Given the description of an element on the screen output the (x, y) to click on. 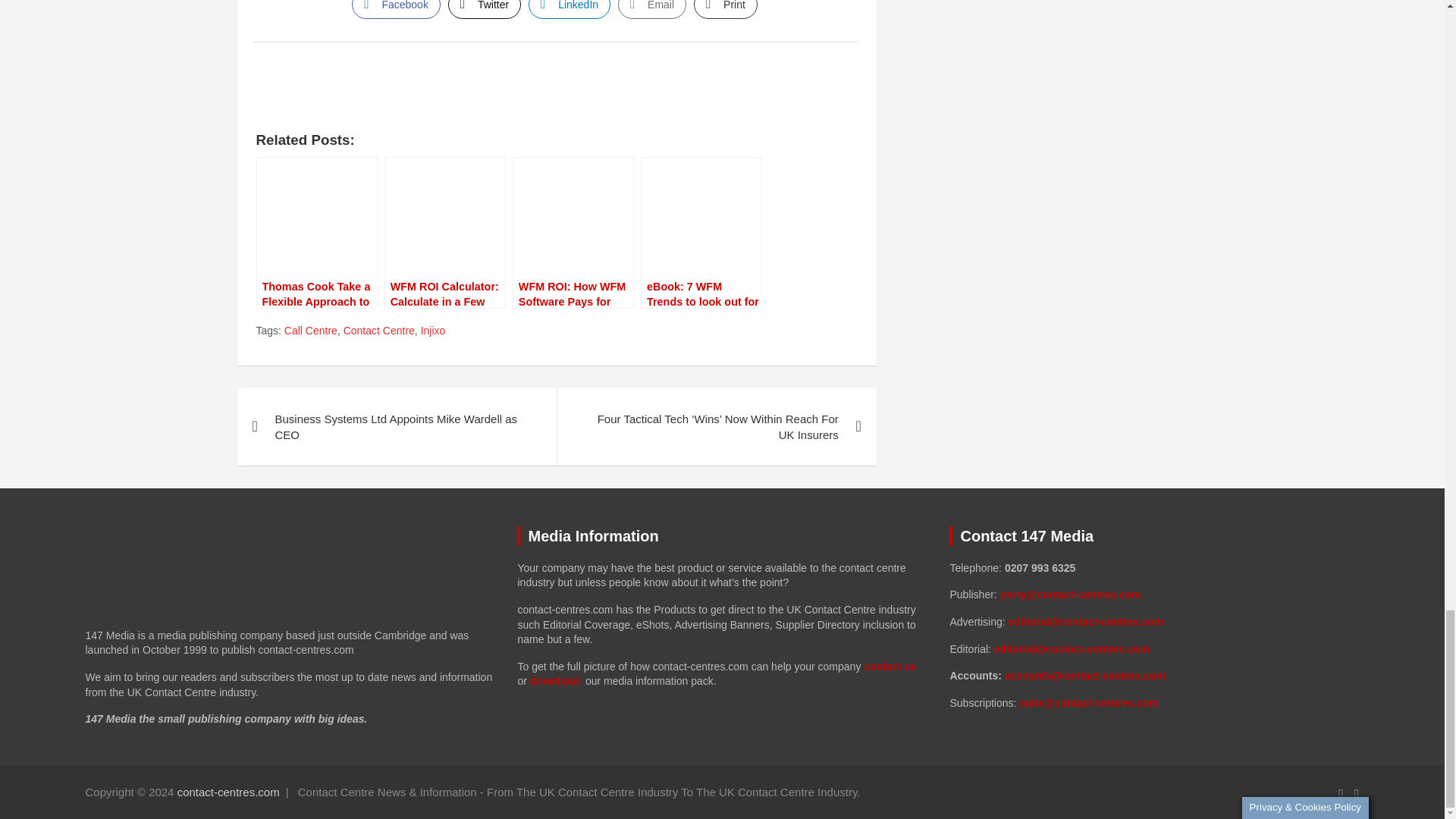
Twitter (484, 9)
LinkedIn (569, 9)
Email (651, 9)
Facebook (395, 9)
Shift-click to edit this widget. (1153, 636)
contact-centres.com (228, 791)
Print (725, 9)
